Given the description of an element on the screen output the (x, y) to click on. 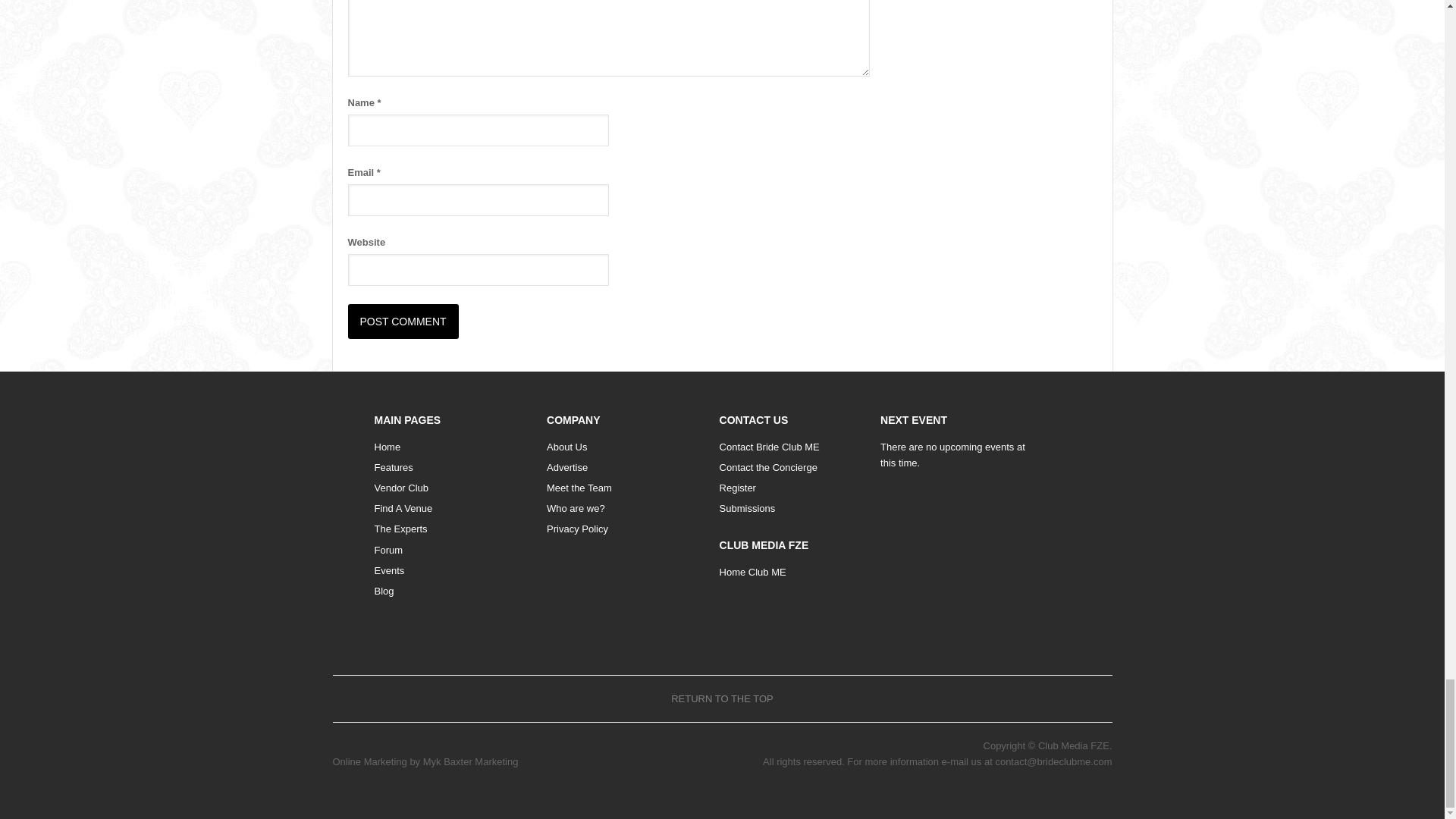
Post Comment (402, 321)
